Given the description of an element on the screen output the (x, y) to click on. 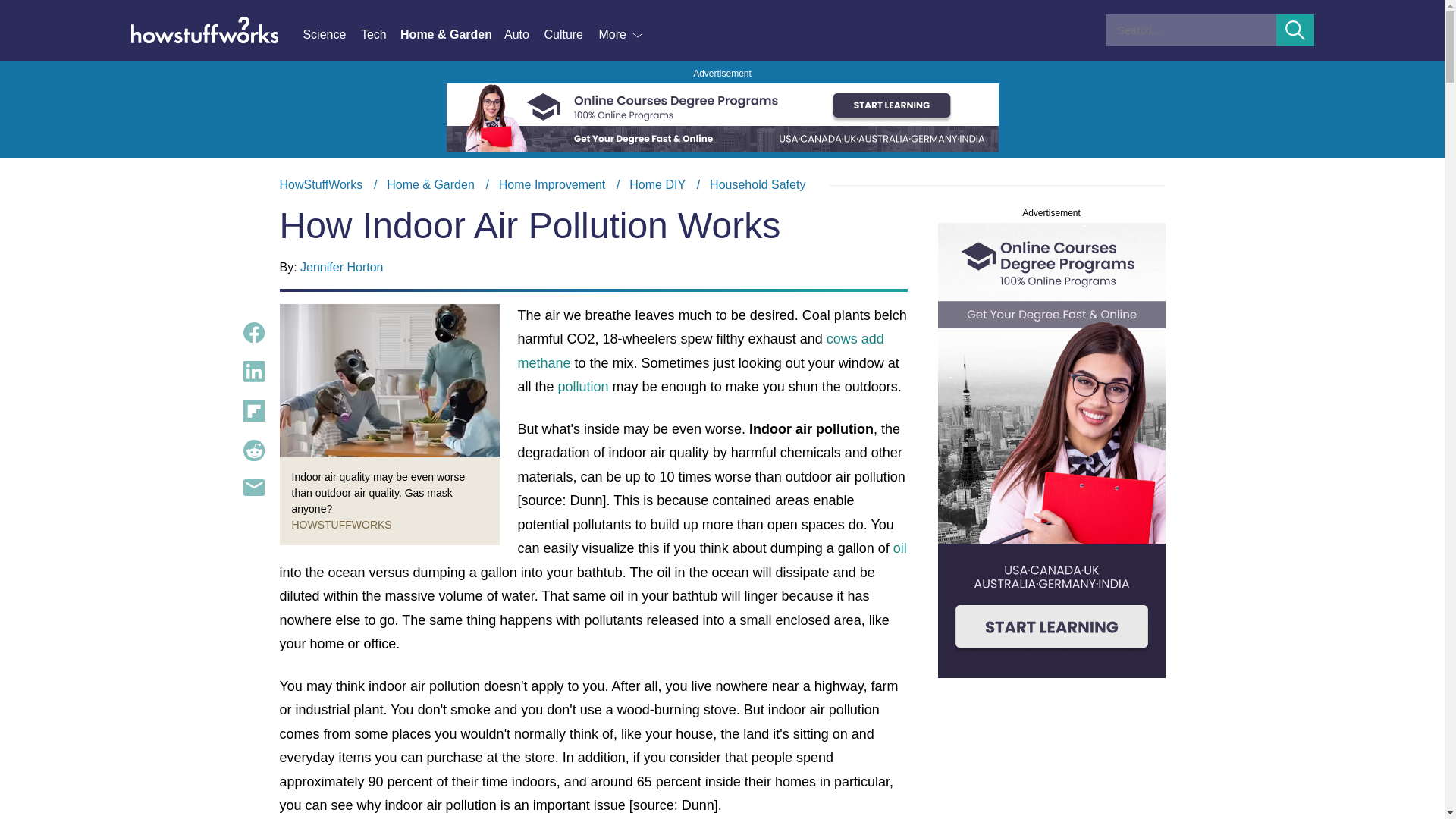
Culture (570, 34)
Submit Search (1295, 29)
Home Improvement (552, 184)
Science (330, 34)
Share Content on Facebook (253, 332)
Home DIY (656, 184)
HowStuffWorks (320, 184)
More (621, 34)
Share Content on Flipboard (253, 410)
Auto (523, 34)
